Given the description of an element on the screen output the (x, y) to click on. 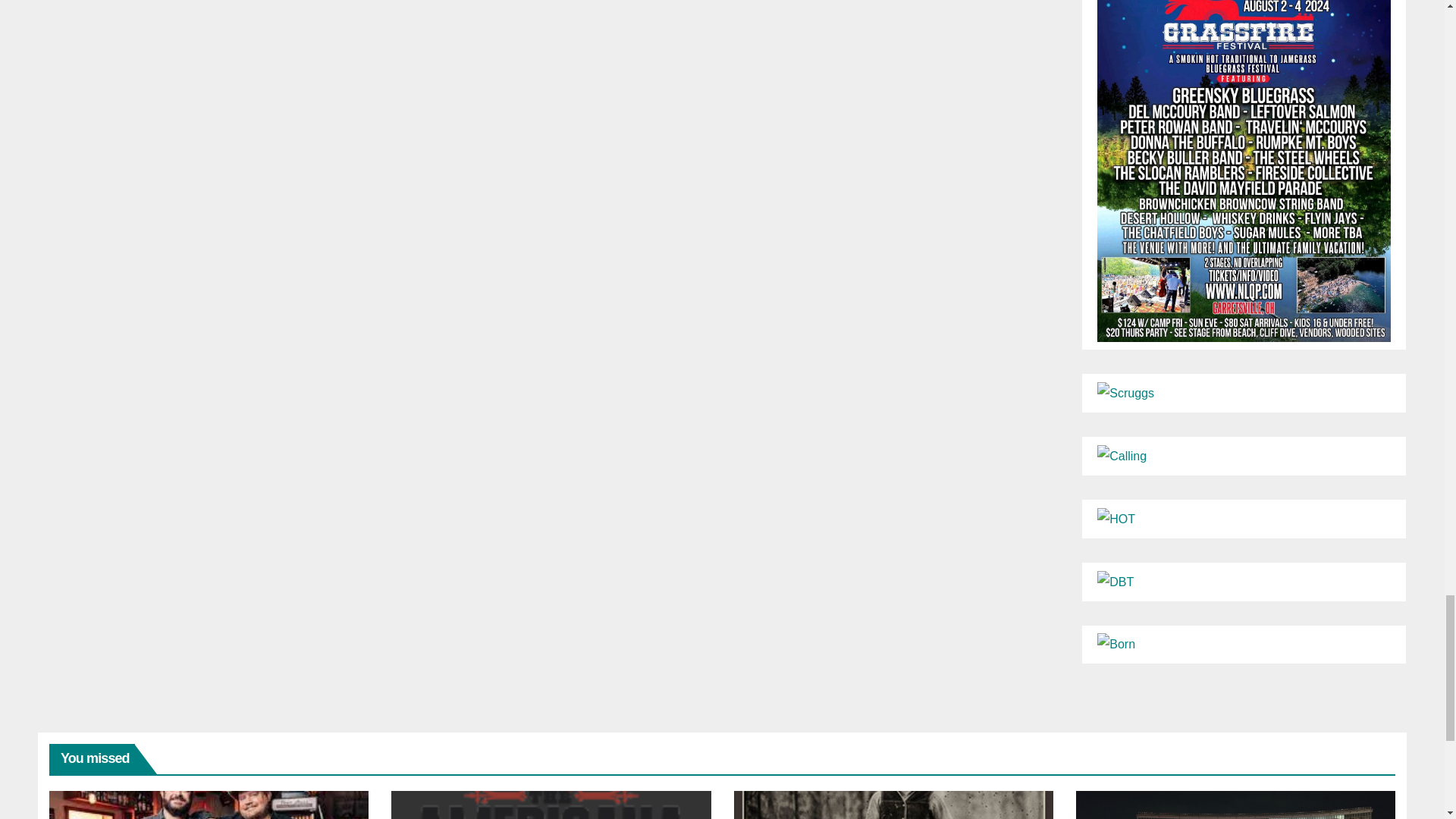
Grassfire (1243, 151)
